Given the description of an element on the screen output the (x, y) to click on. 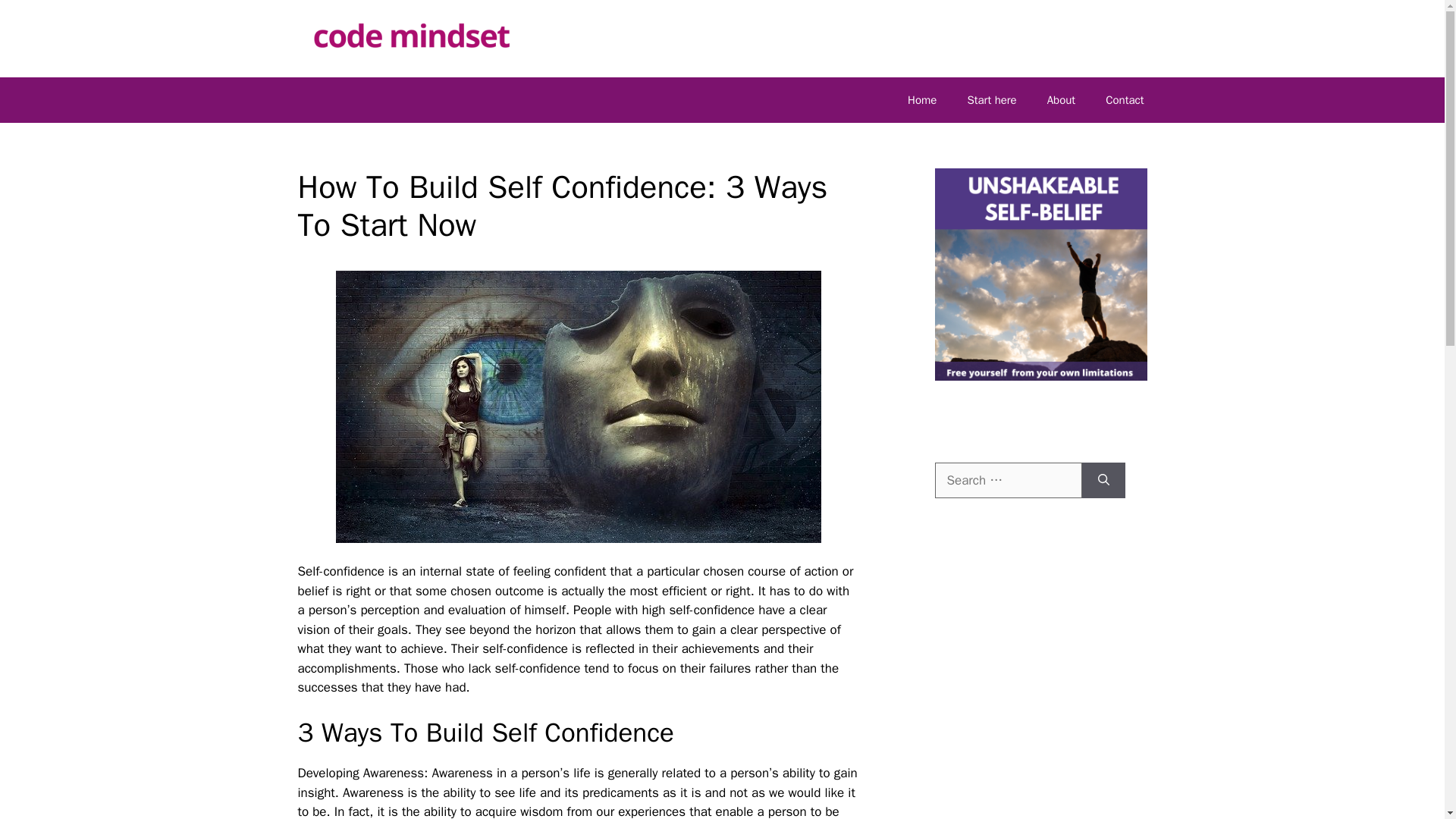
About (1061, 99)
Home (922, 99)
Contact (1124, 99)
Start here (991, 99)
Search for: (1007, 480)
